Given the description of an element on the screen output the (x, y) to click on. 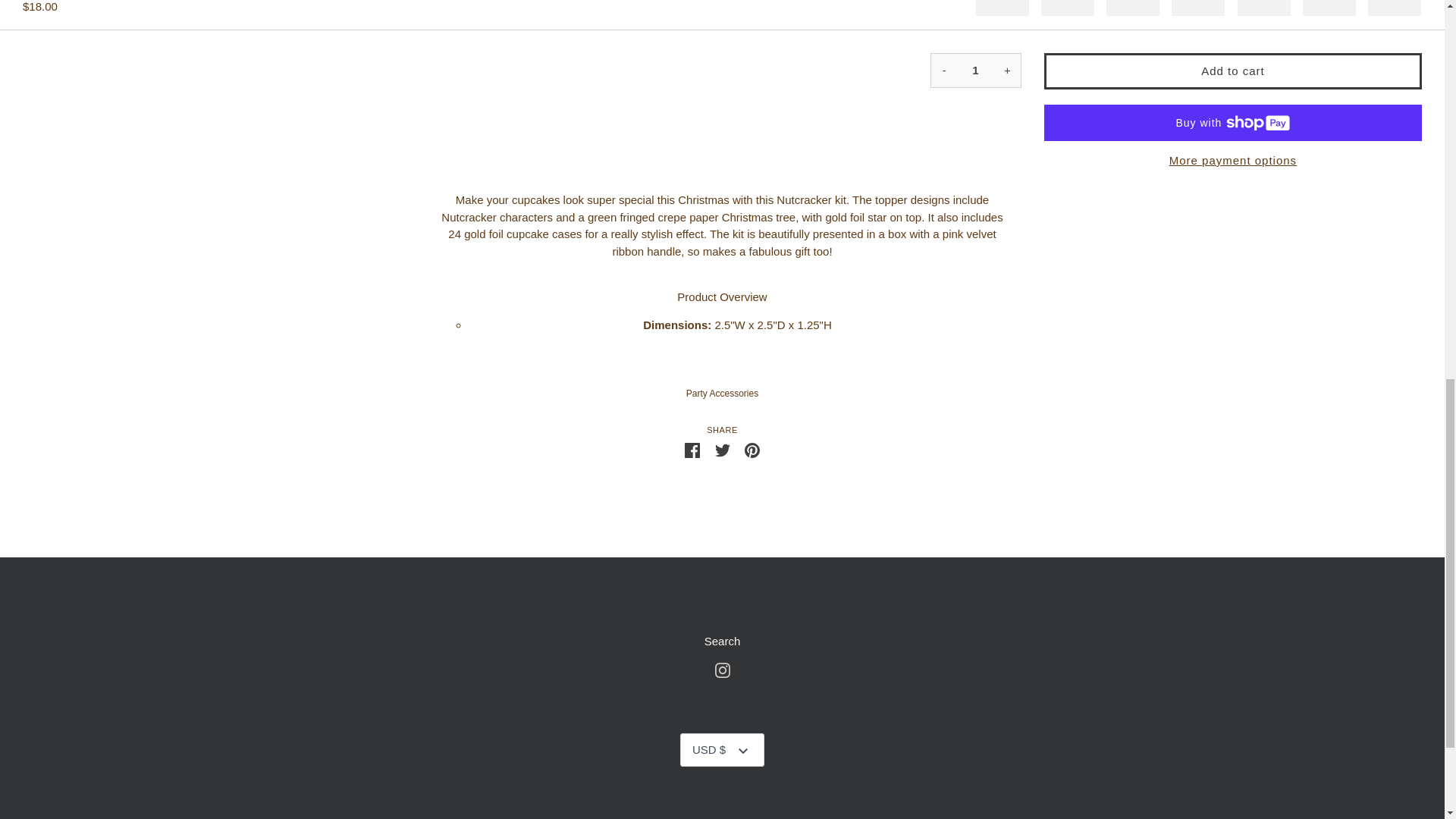
Instagram (721, 670)
Instagram (721, 668)
Party Accessories (721, 449)
Facebook (752, 449)
Search (721, 393)
Pinterest (692, 450)
- (722, 640)
Add to cart (752, 450)
More payment options (942, 70)
Instagram (1232, 71)
1 (692, 449)
Twitter (1232, 160)
